Given the description of an element on the screen output the (x, y) to click on. 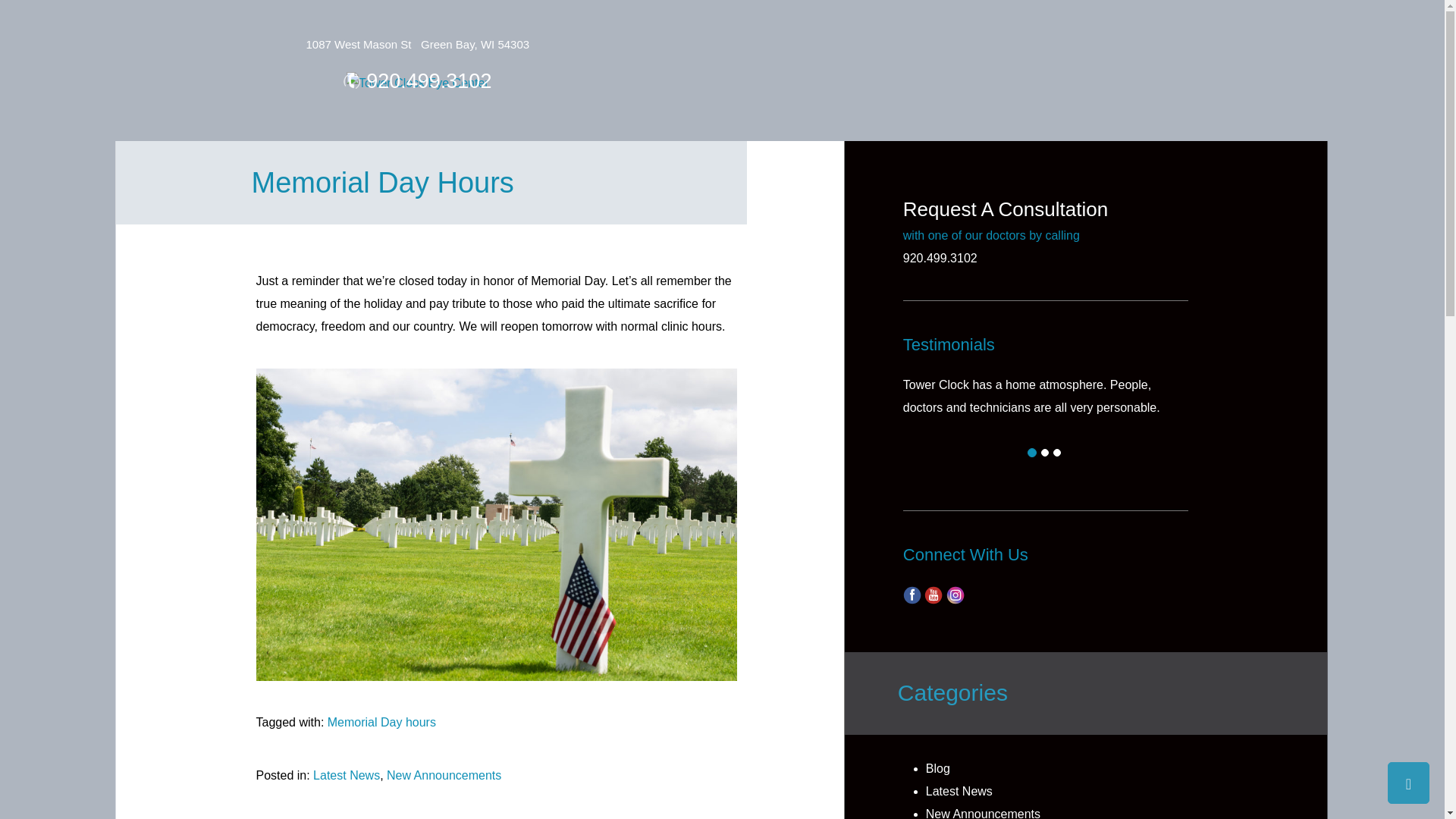
Cataract (496, 39)
Services (422, 39)
Patient Info (970, 39)
Glaucoma (573, 39)
Physicians (343, 39)
